Given the description of an element on the screen output the (x, y) to click on. 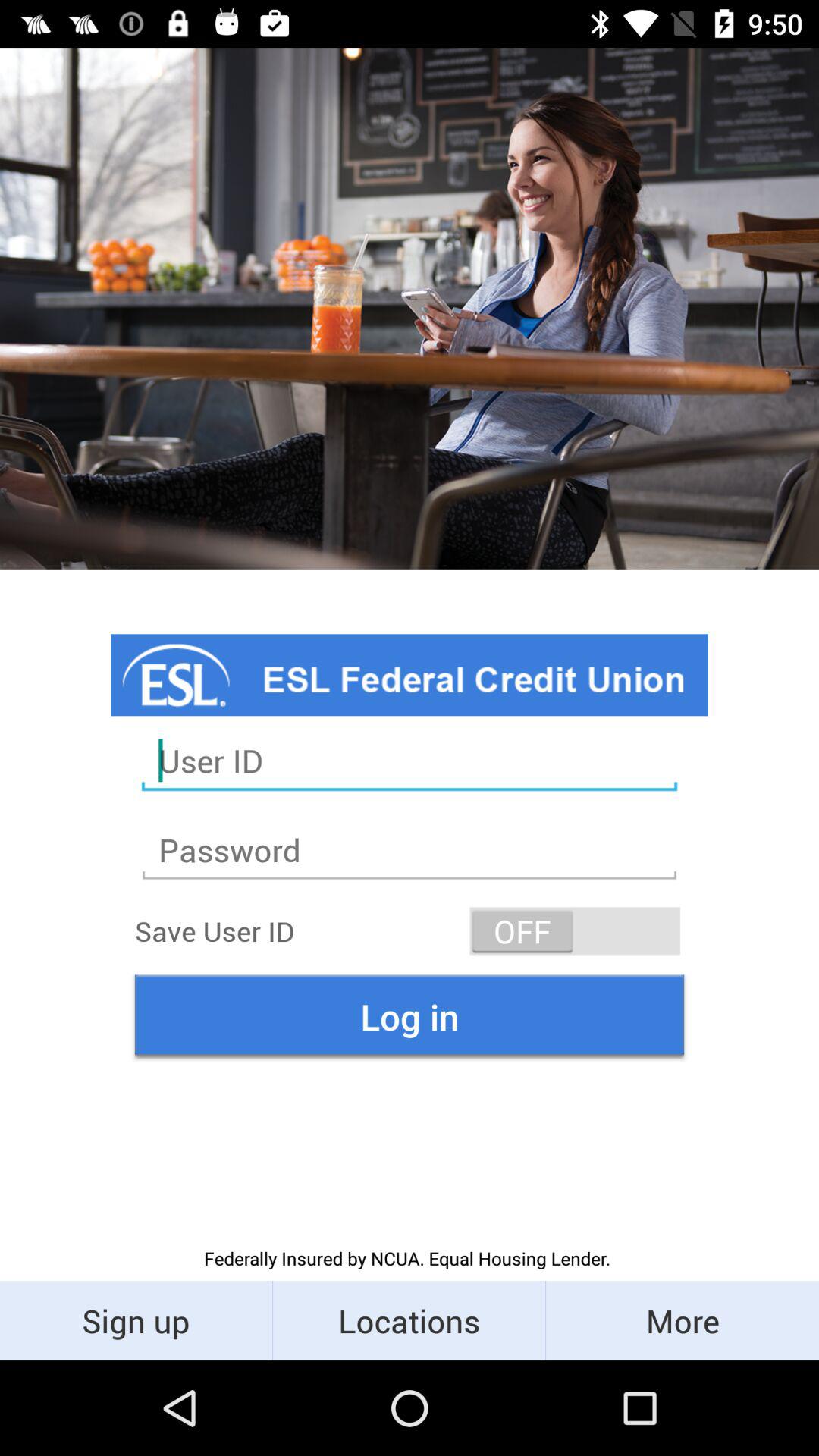
turn off item to the right of the sign up (409, 1320)
